Given the description of an element on the screen output the (x, y) to click on. 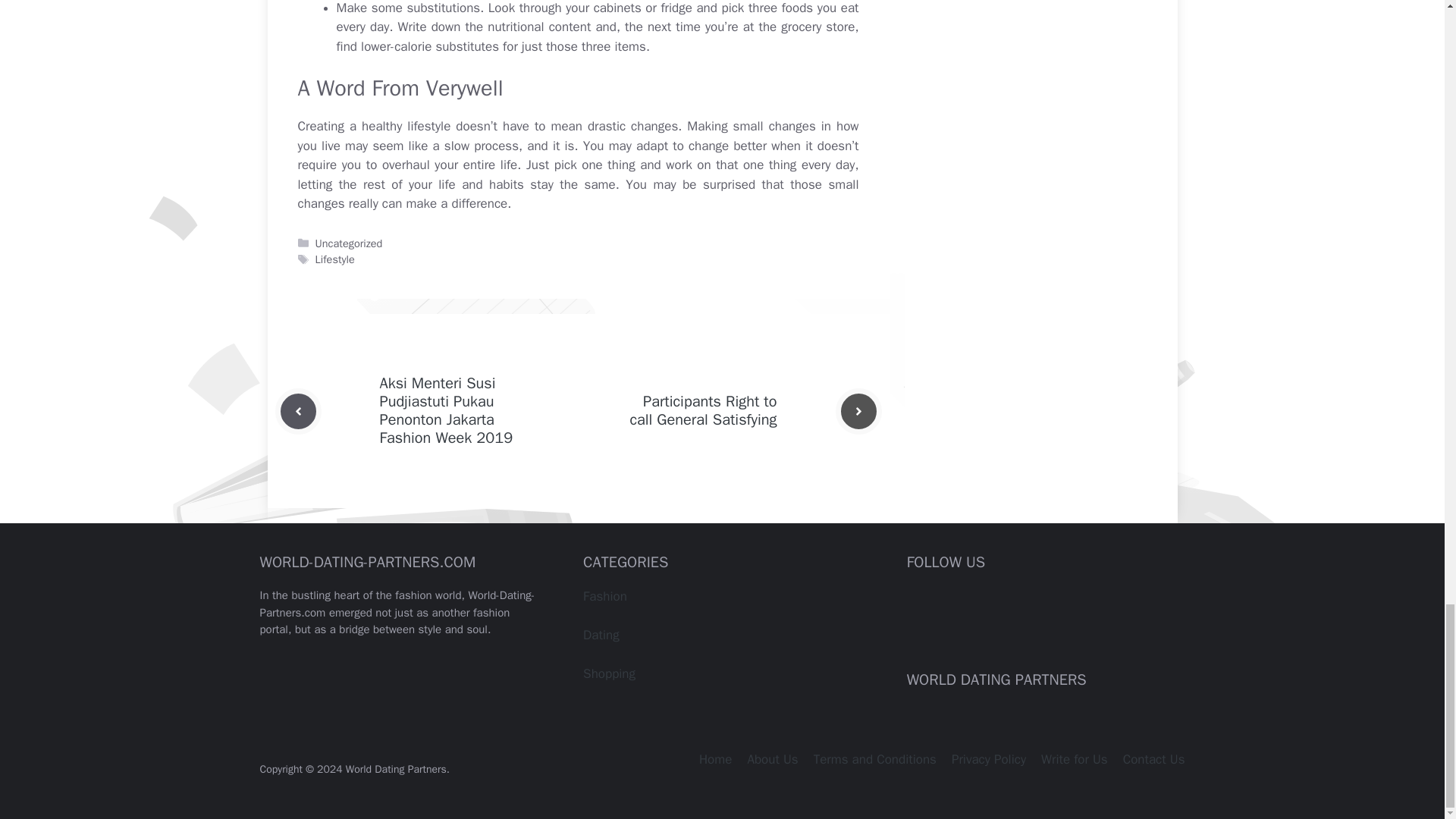
Lifestyle (335, 259)
grocery store (817, 26)
Participants Right to call General Satisfying (702, 410)
Uncategorized (348, 243)
